Given the description of an element on the screen output the (x, y) to click on. 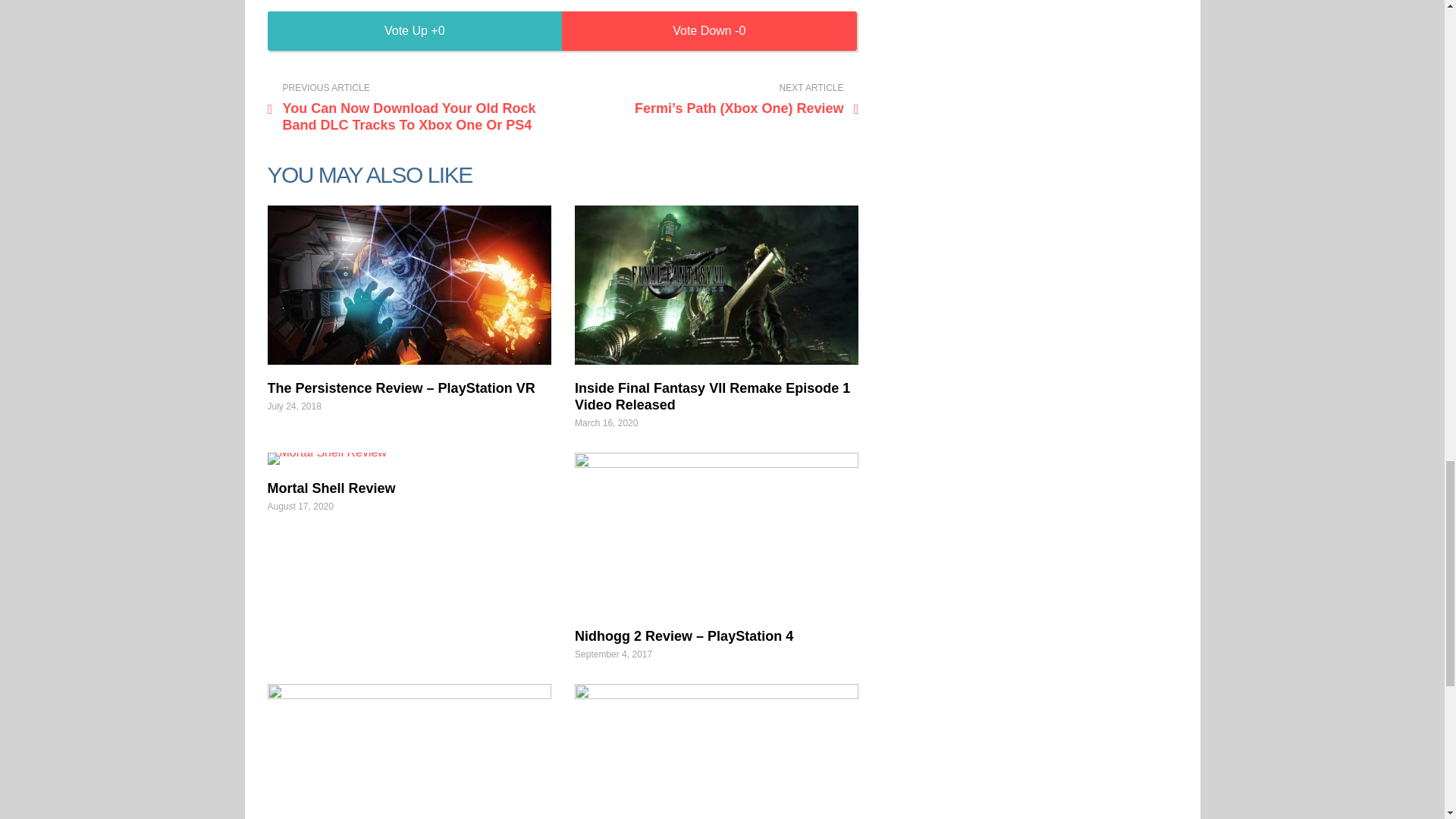
Inside Final Fantasy VII Remake Episode 1 Video Released (712, 396)
Inside Final Fantasy VII Remake Episode 1 Video Released (717, 284)
Mortal Shell Review (330, 488)
Mortal Shell Review (408, 458)
